Given the description of an element on the screen output the (x, y) to click on. 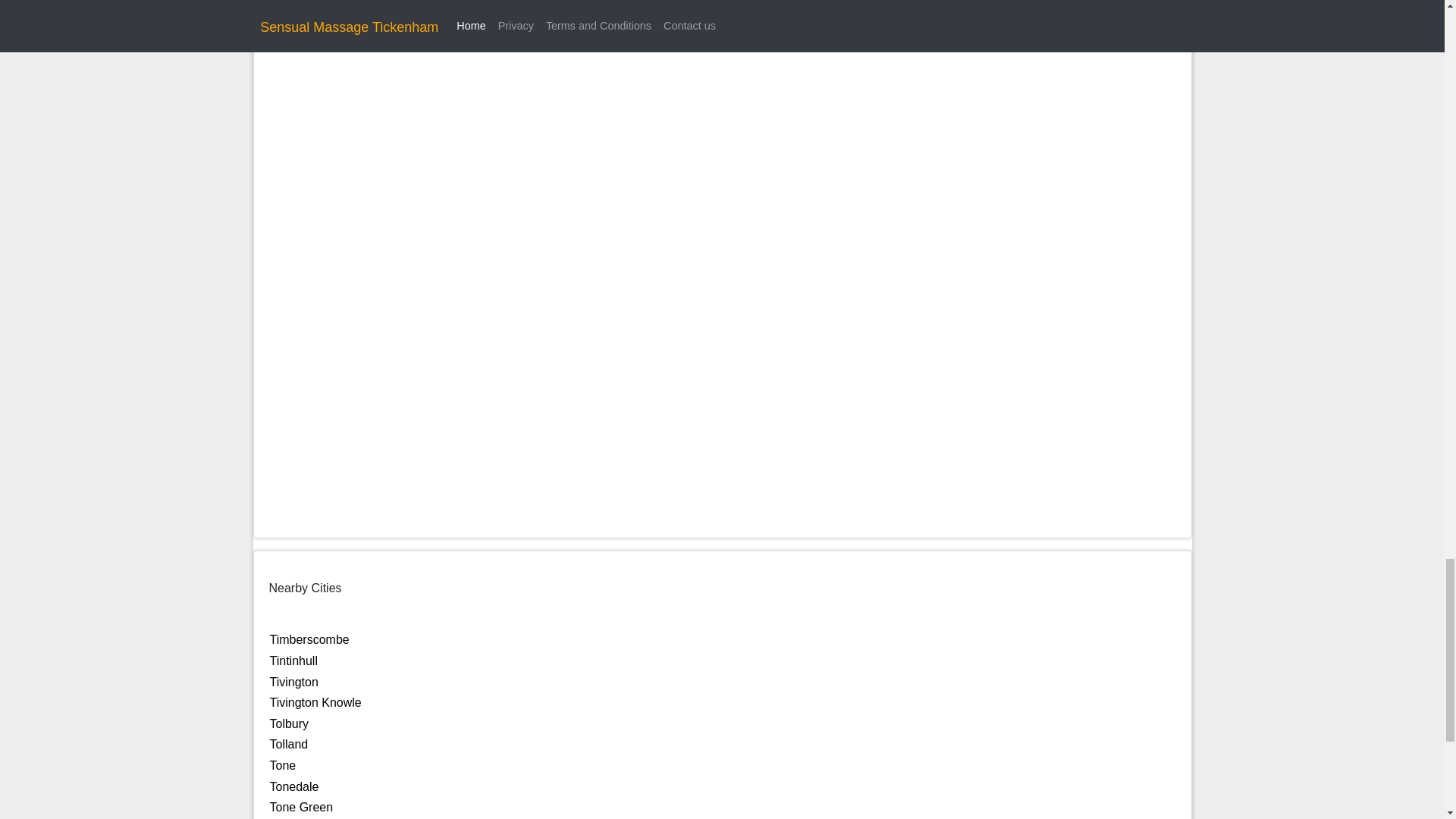
Tintinhull (293, 660)
Tolbury (288, 723)
Timberscombe (309, 639)
Tivington (293, 681)
Tone Green (301, 807)
Tonedale (293, 786)
Tolland (288, 744)
Tivington Knowle (315, 702)
Tone (283, 765)
